Given the description of an element on the screen output the (x, y) to click on. 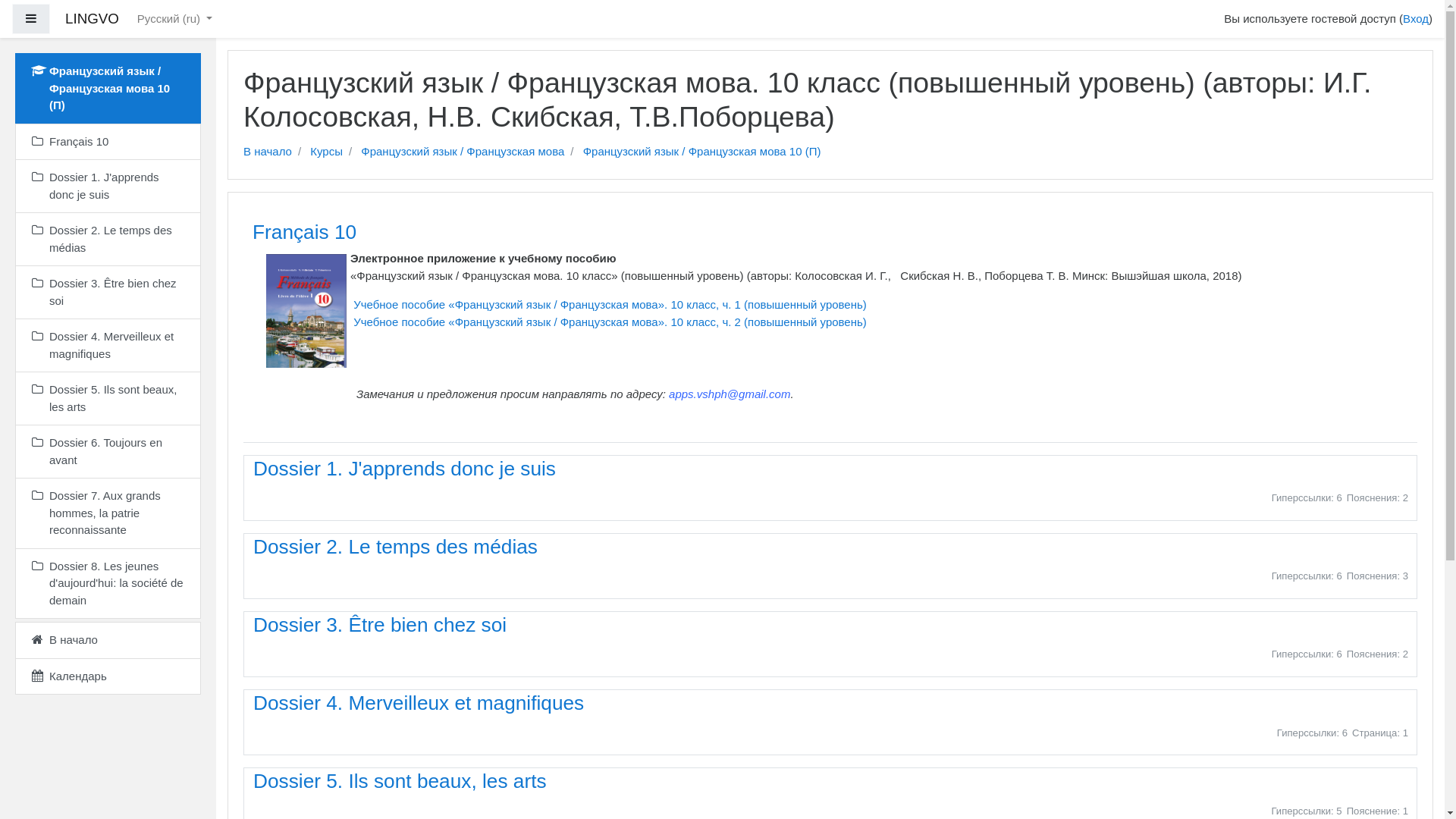
Dossier 4. Merveilleux et magnifiques Element type: text (107, 345)
Dossier 1. J'apprends donc je suis Element type: text (107, 186)
Dossier 7. Aux grands hommes, la patrie reconnaissante Element type: text (107, 513)
Dossier 4. Merveilleux et magnifiques Element type: text (418, 702)
Dossier 1. J'apprends donc je suis Element type: text (404, 467)
Dossier 5. Ils sont beaux, les arts Element type: text (399, 780)
Dossier 6. Toujours en avant Element type: text (107, 451)
LINGVO Element type: text (92, 19)
Dossier 5. Ils sont beaux, les arts Element type: text (107, 398)
